Given the description of an element on the screen output the (x, y) to click on. 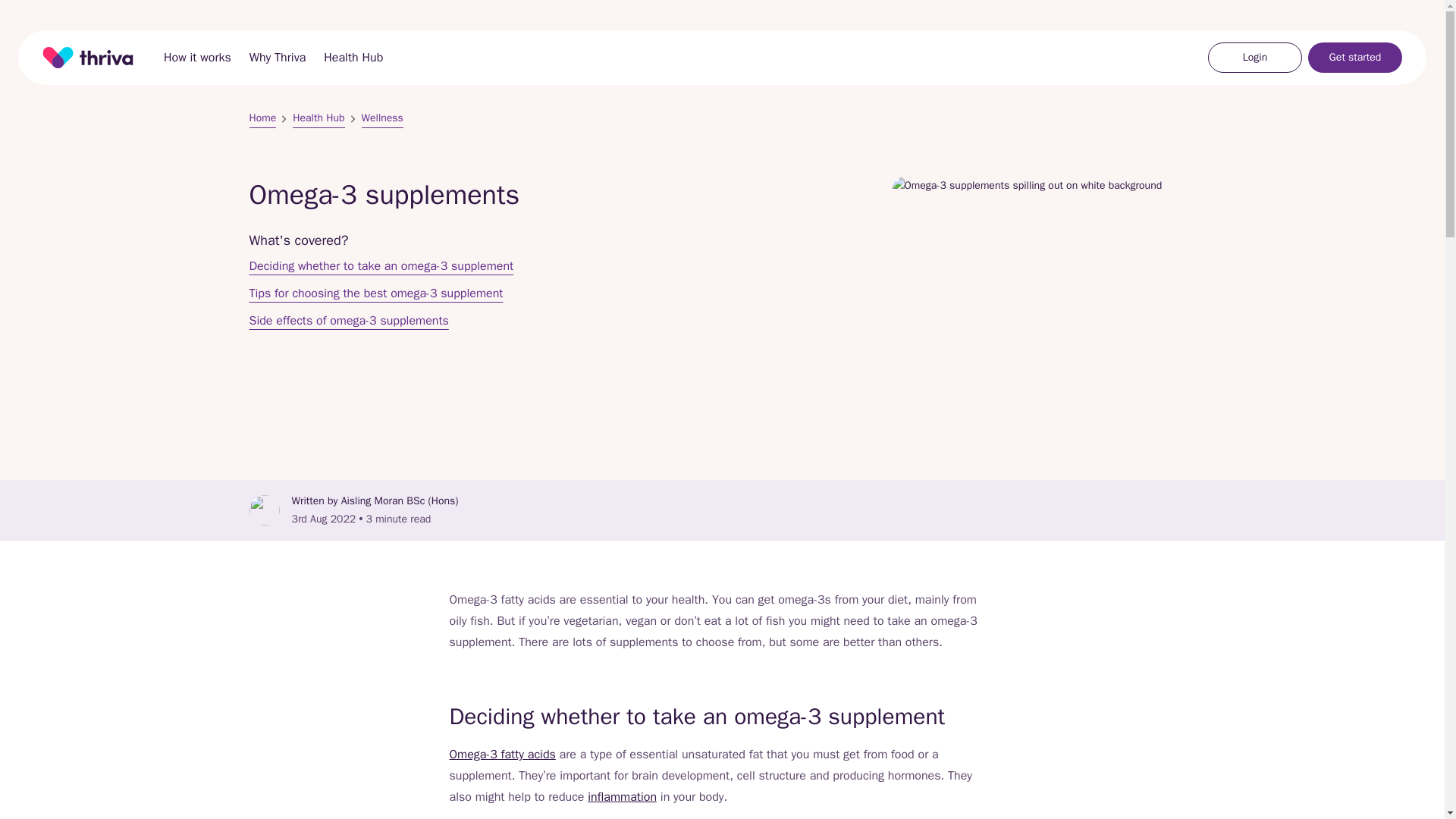
Tips for choosing the best omega-3 supplement (375, 292)
How it works (197, 56)
Omega-3 fatty acids (501, 754)
Home (262, 117)
Why Thriva (276, 56)
Health Hub (352, 56)
omega-3 supplement (917, 817)
Side effects of omega-3 supplements (348, 320)
inflammation (622, 796)
Home (87, 56)
